Given the description of an element on the screen output the (x, y) to click on. 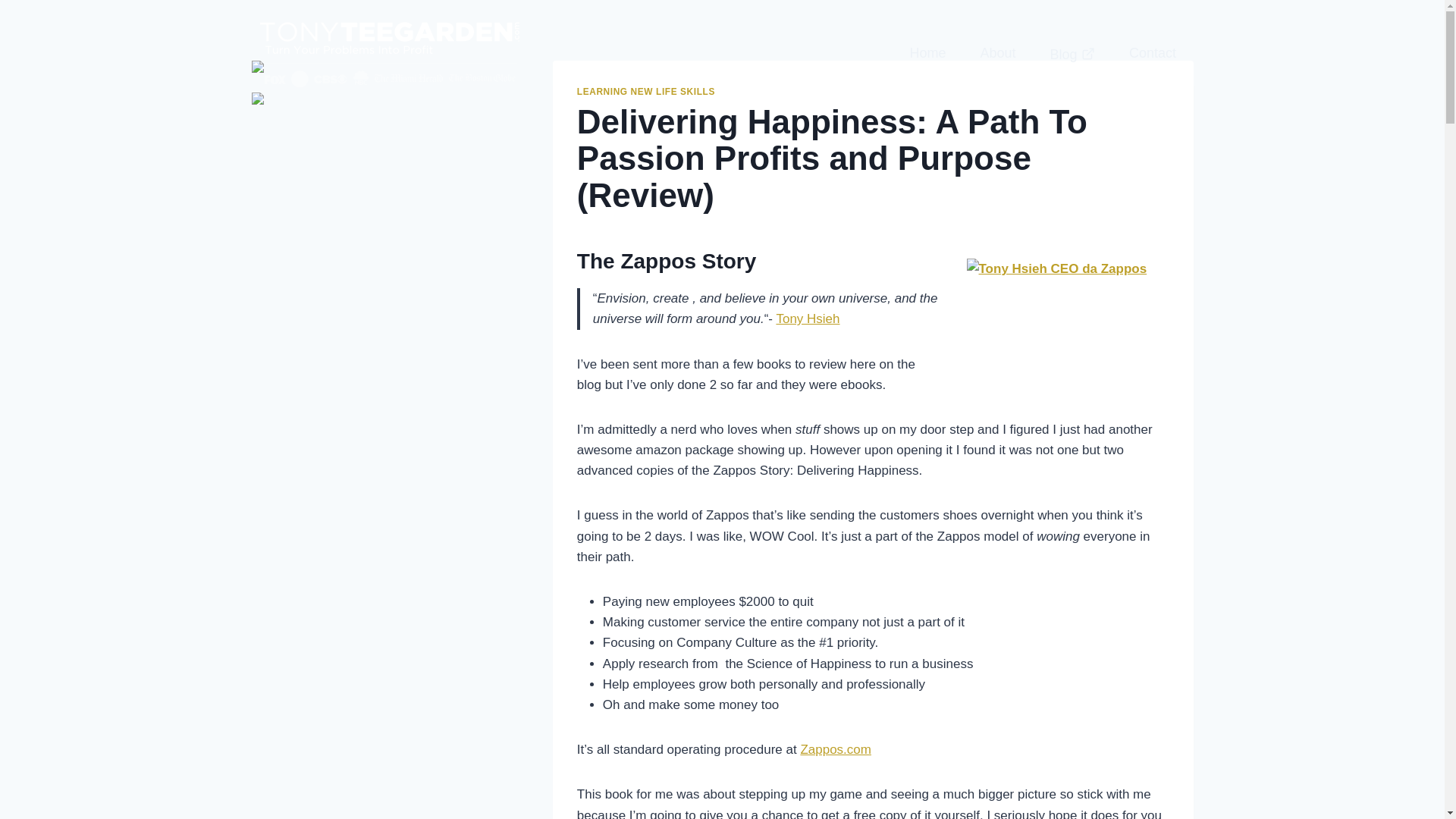
Contact (1152, 52)
Tony Hsieh (808, 318)
Tony Hsieh CEO da Zappos (1057, 318)
Blog (1072, 52)
LEARNING NEW LIFE SKILLS (645, 91)
Zappos (834, 749)
Tony Hsieh (808, 318)
Zappos.com (834, 749)
About (997, 52)
Home (927, 52)
